Given the description of an element on the screen output the (x, y) to click on. 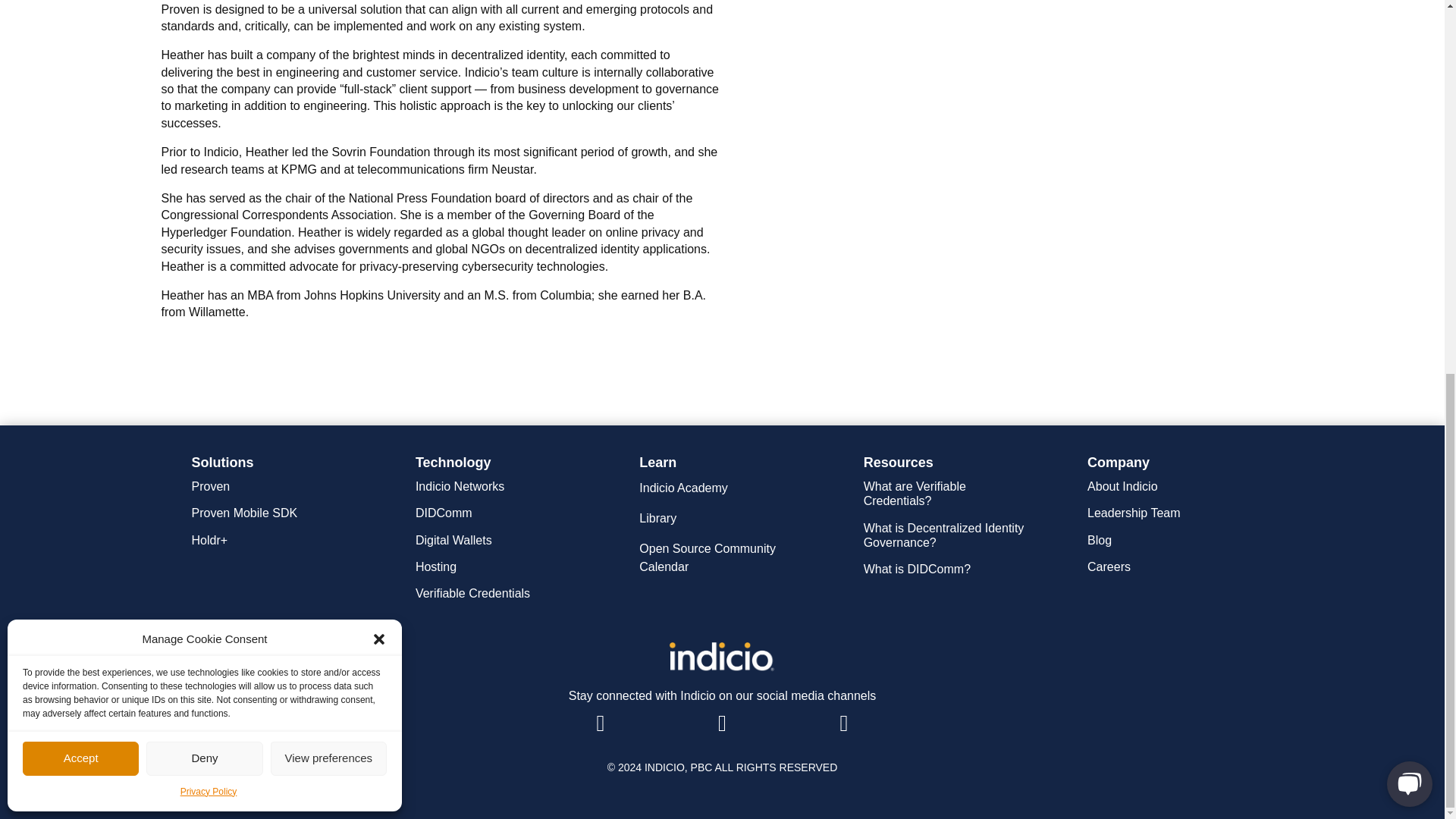
indicio brand inverse (721, 657)
Privacy Policy (208, 106)
Deny (204, 73)
Accept (80, 73)
View preferences (328, 73)
